Given the description of an element on the screen output the (x, y) to click on. 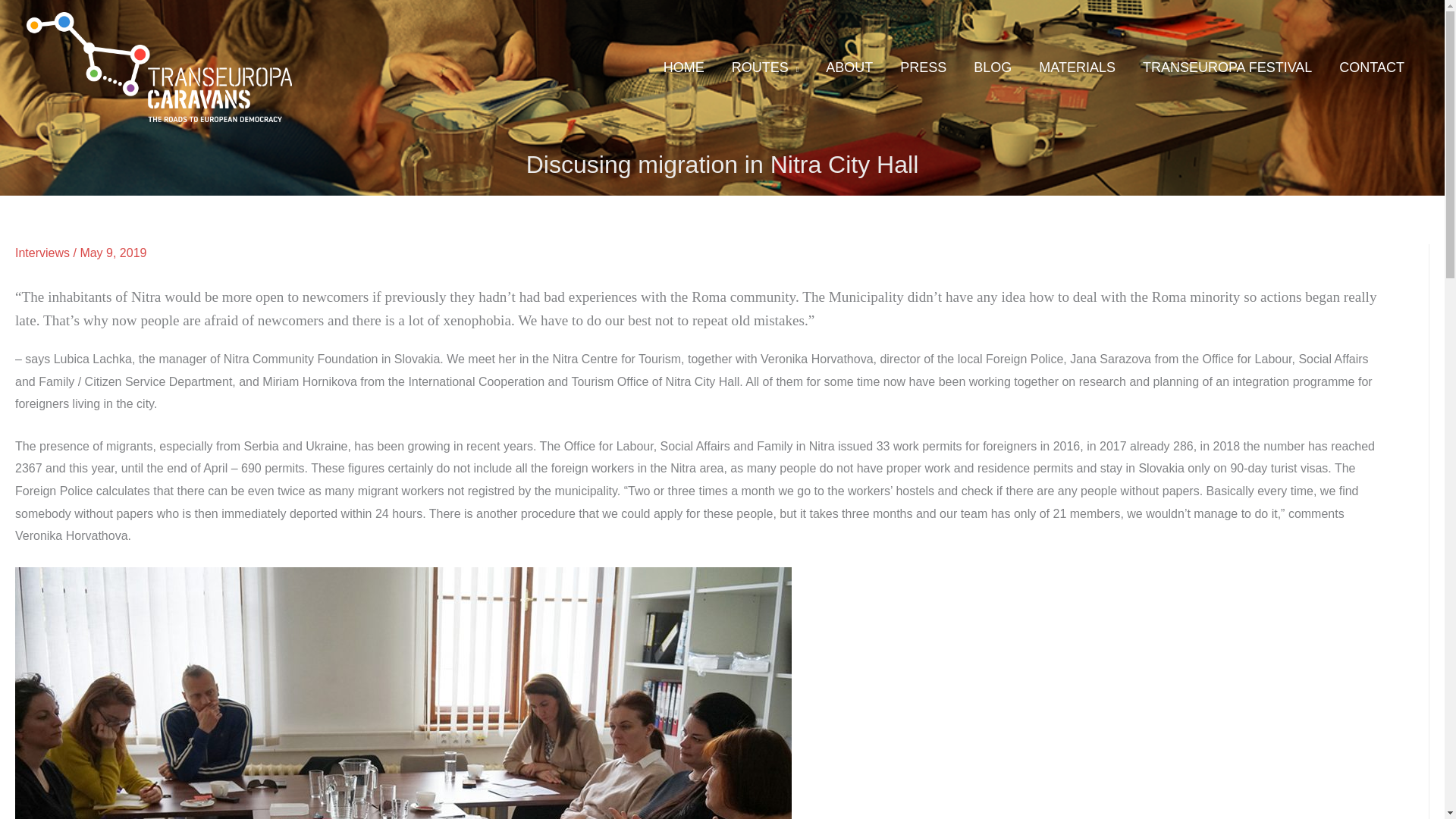
MATERIALS (1077, 67)
ABOUT (849, 67)
CONTACT (1371, 67)
PRESS (922, 67)
BLOG (992, 67)
ROUTES (764, 67)
Interviews (41, 252)
TRANSEUROPA FESTIVAL (1226, 67)
HOME (683, 67)
